Given the description of an element on the screen output the (x, y) to click on. 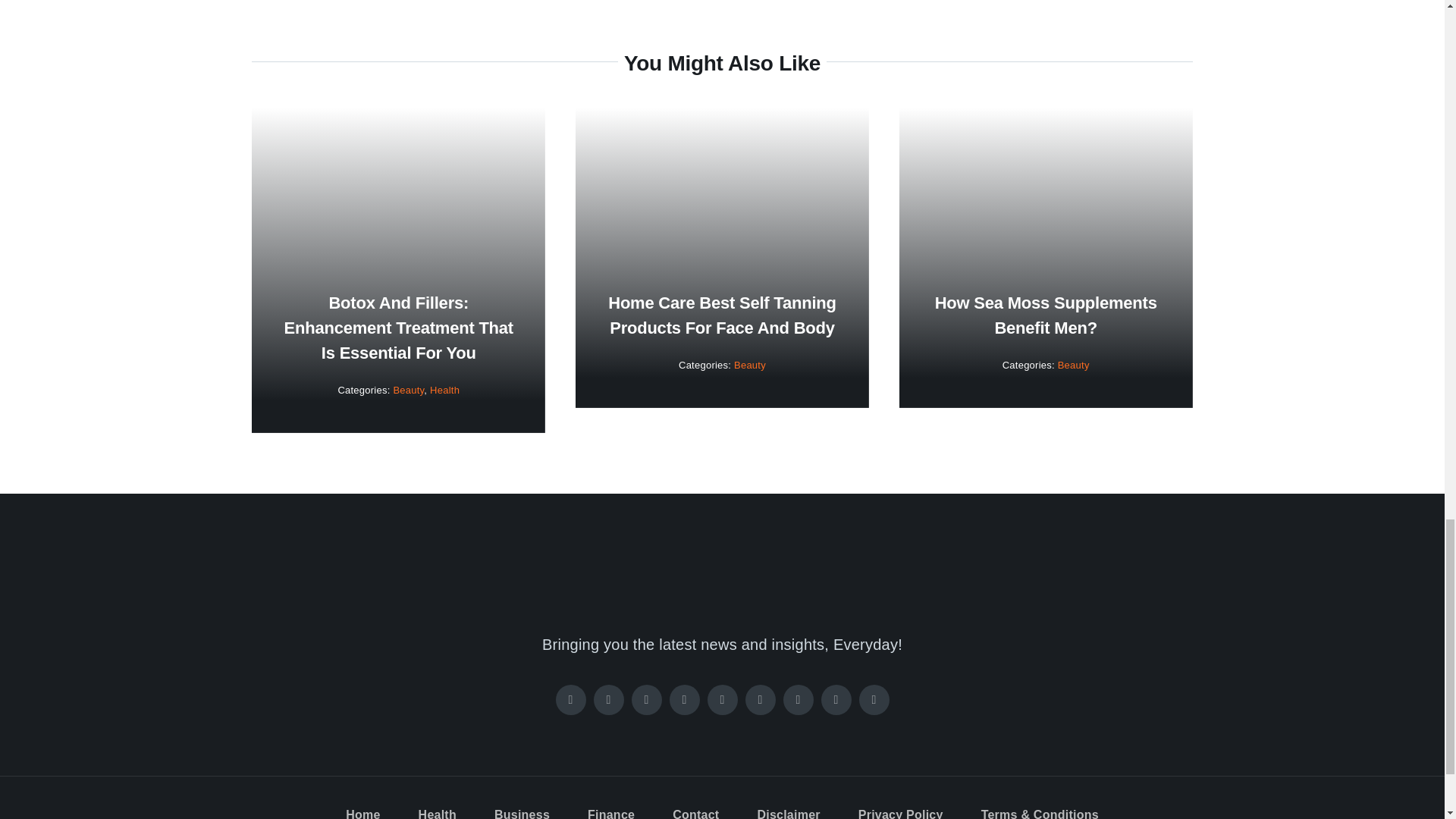
Tumblr (835, 699)
Instagram (645, 699)
Email (873, 699)
LinkedIn (759, 699)
Flickr (797, 699)
YouTube (721, 699)
Pinterest (683, 699)
Facebook (569, 699)
Twitter (607, 699)
